Given the description of an element on the screen output the (x, y) to click on. 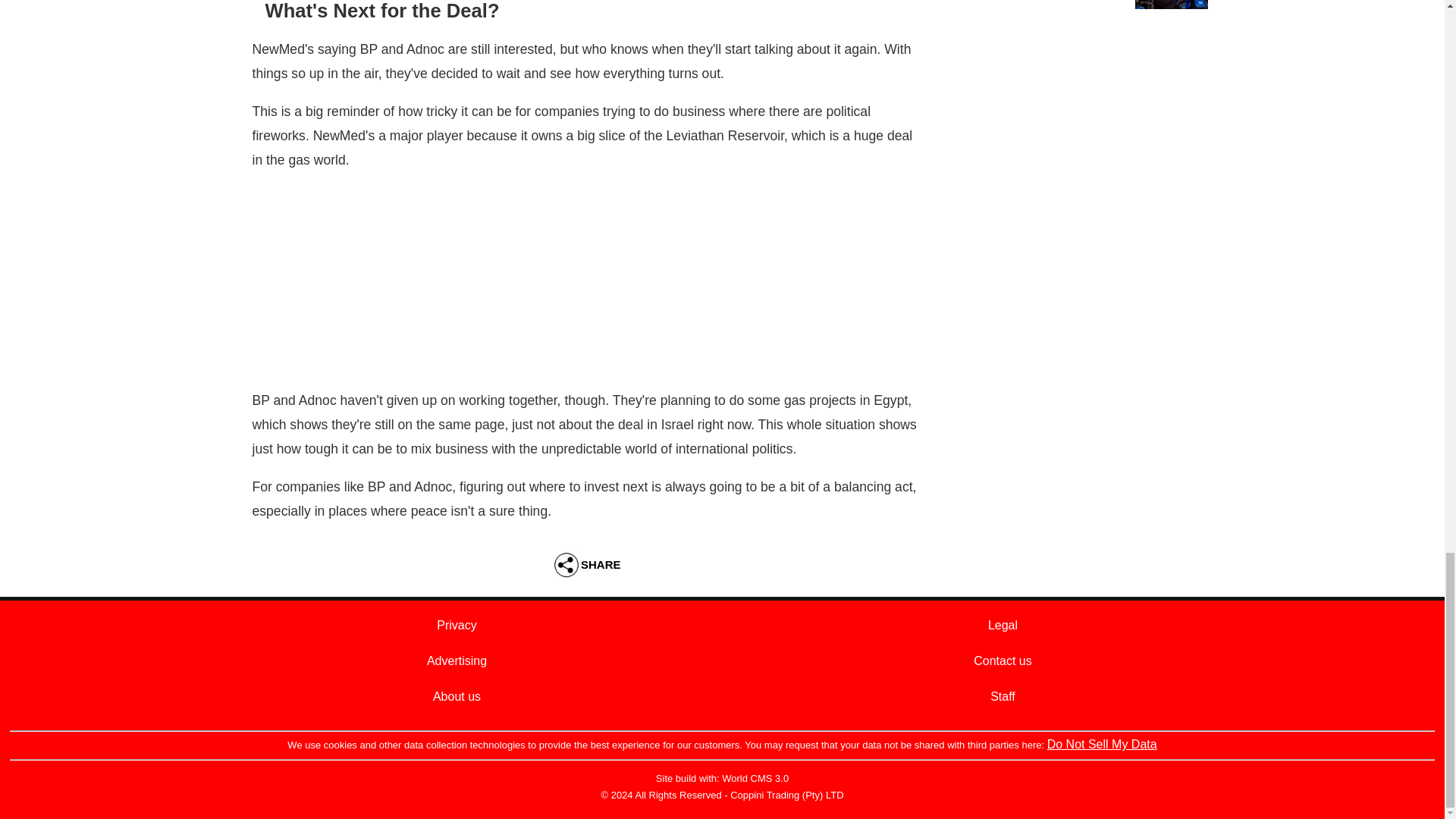
Legal (1002, 625)
Privacy (456, 625)
Advertising (456, 660)
